Given the description of an element on the screen output the (x, y) to click on. 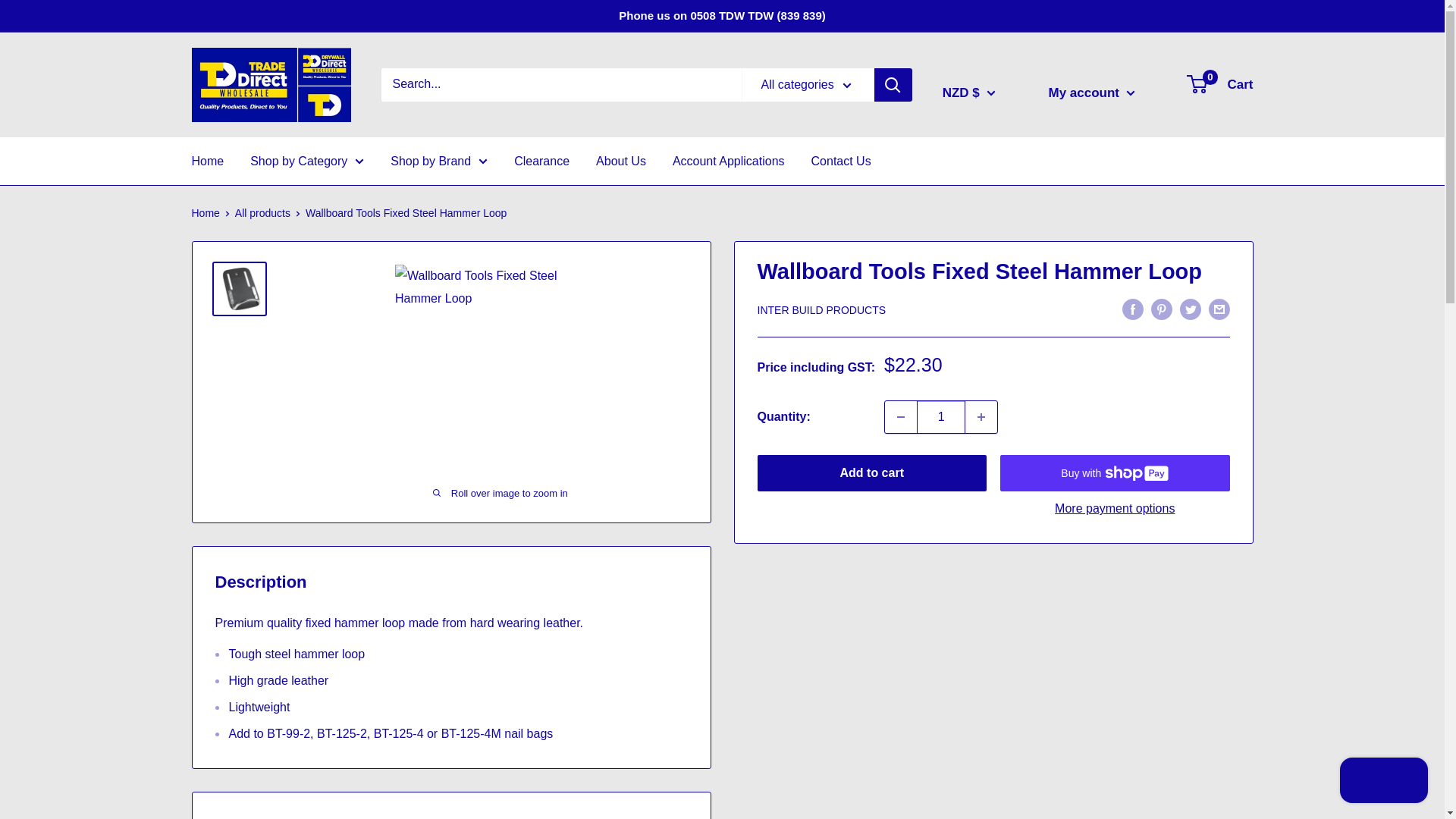
Decrease quantity by 1 (901, 417)
1 (941, 417)
Increase quantity by 1 (981, 417)
Shopify online store chat (1383, 781)
